Given the description of an element on the screen output the (x, y) to click on. 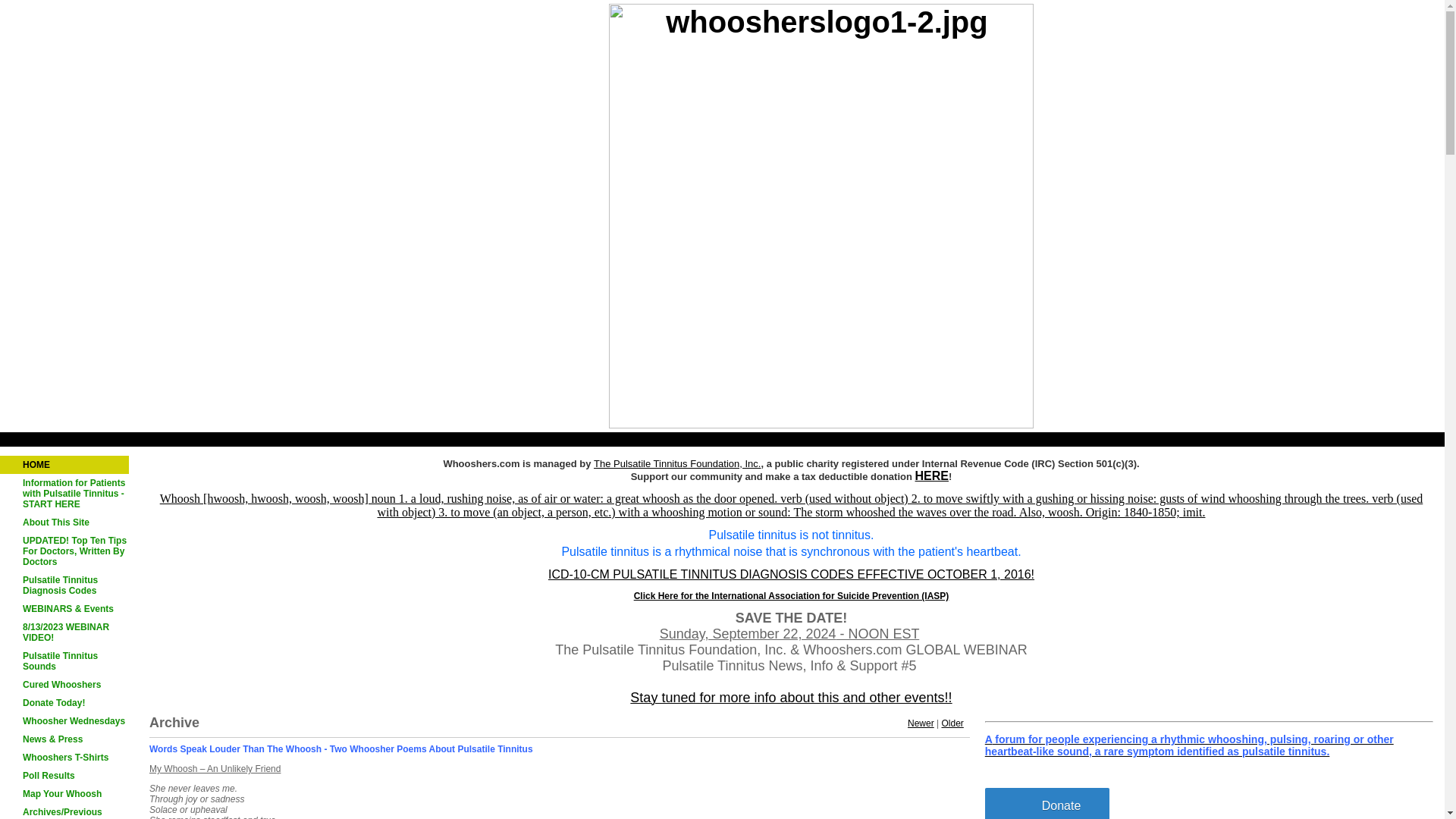
Pulsatile Tinnitus Sounds (64, 661)
Older (951, 723)
Pulsatile Tinnitus Diagnosis Codes (64, 584)
Poll Results (64, 775)
Cured Whooshers (64, 684)
Stay tuned for more info about this and other events!! (791, 698)
Whooshers T-Shirts (64, 757)
HERE (932, 476)
